Given the description of an element on the screen output the (x, y) to click on. 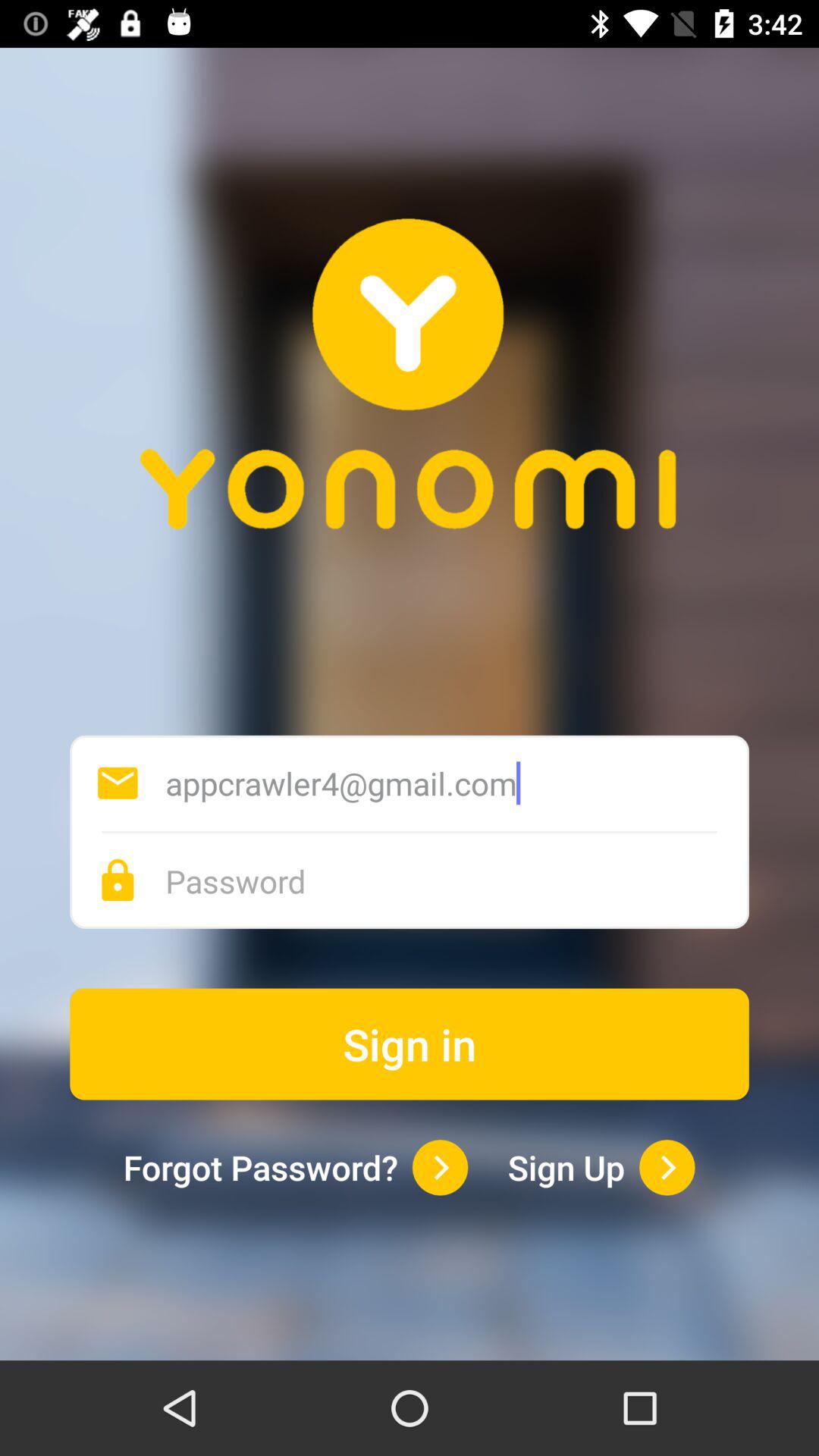
enter your password (457, 880)
